Given the description of an element on the screen output the (x, y) to click on. 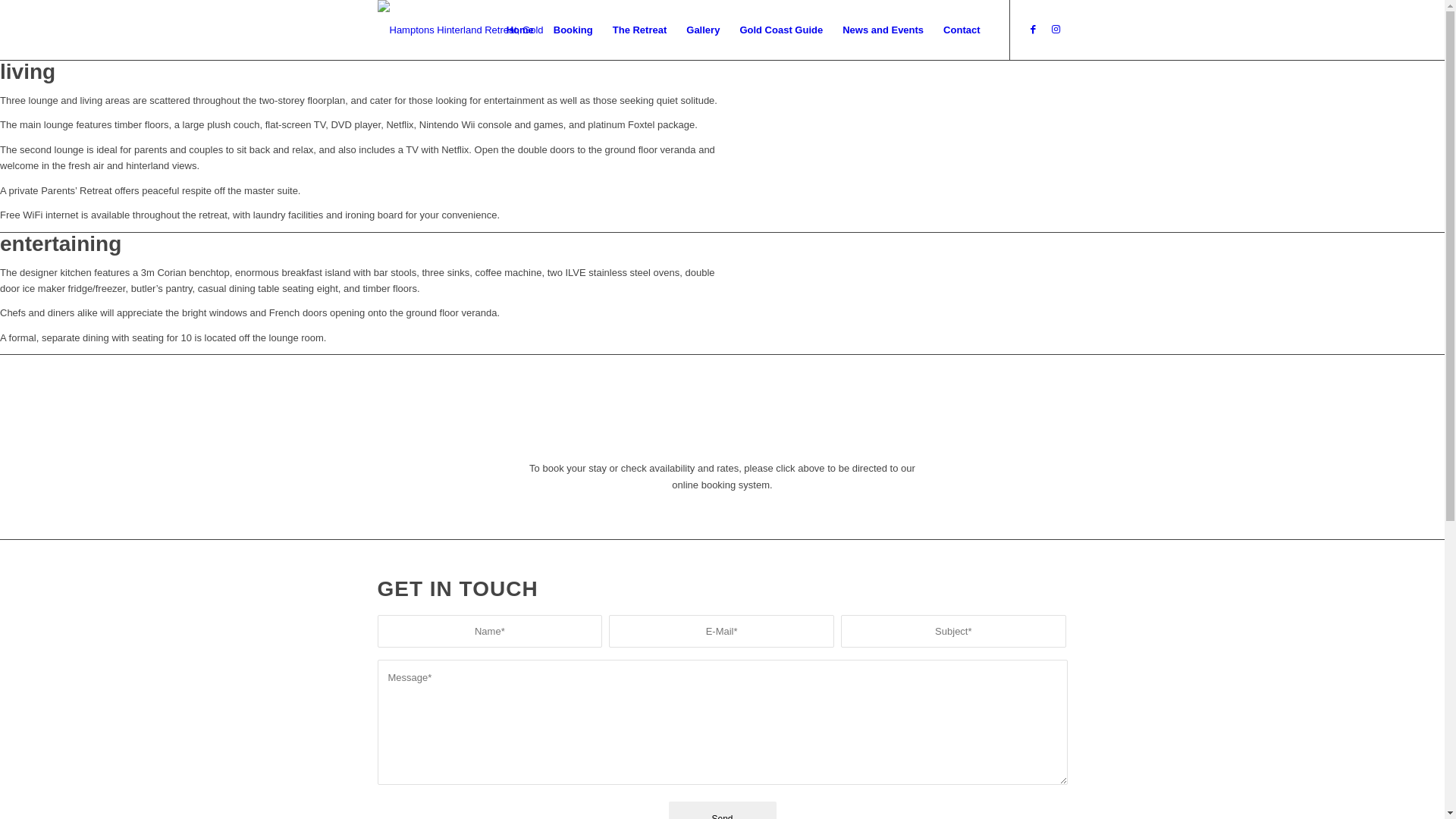
book your stay now Element type: text (722, 422)
Facebook Element type: hover (1033, 29)
Contact Element type: text (961, 29)
Booking Element type: text (572, 29)
Gallery Element type: text (702, 29)
News and Events Element type: text (882, 29)
The Retreat Element type: text (639, 29)
Instagram Element type: hover (1055, 29)
Gold Coast Guide Element type: text (780, 29)
Home Element type: text (519, 29)
